Given the description of an element on the screen output the (x, y) to click on. 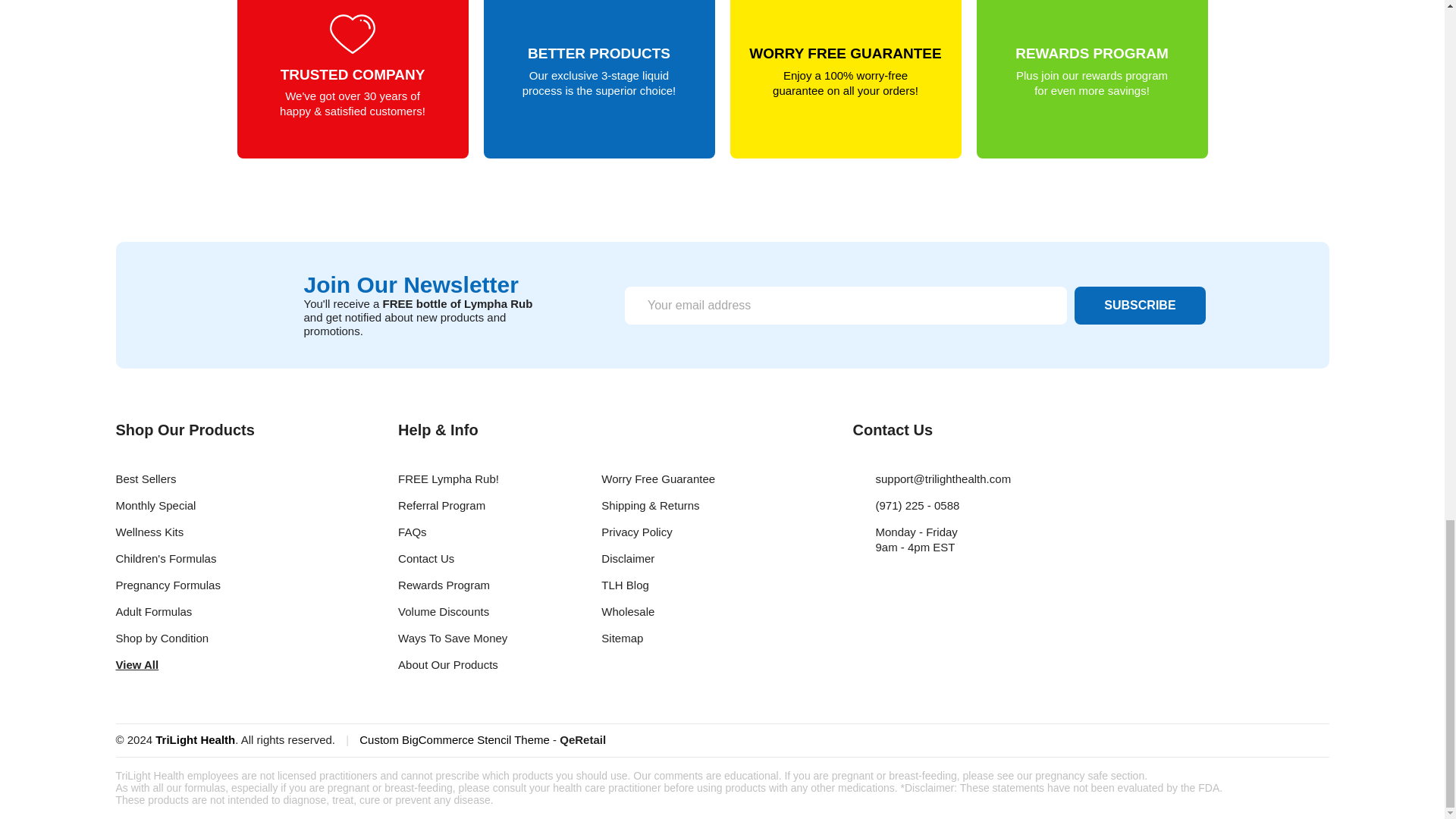
Subscribe (1139, 305)
